Given the description of an element on the screen output the (x, y) to click on. 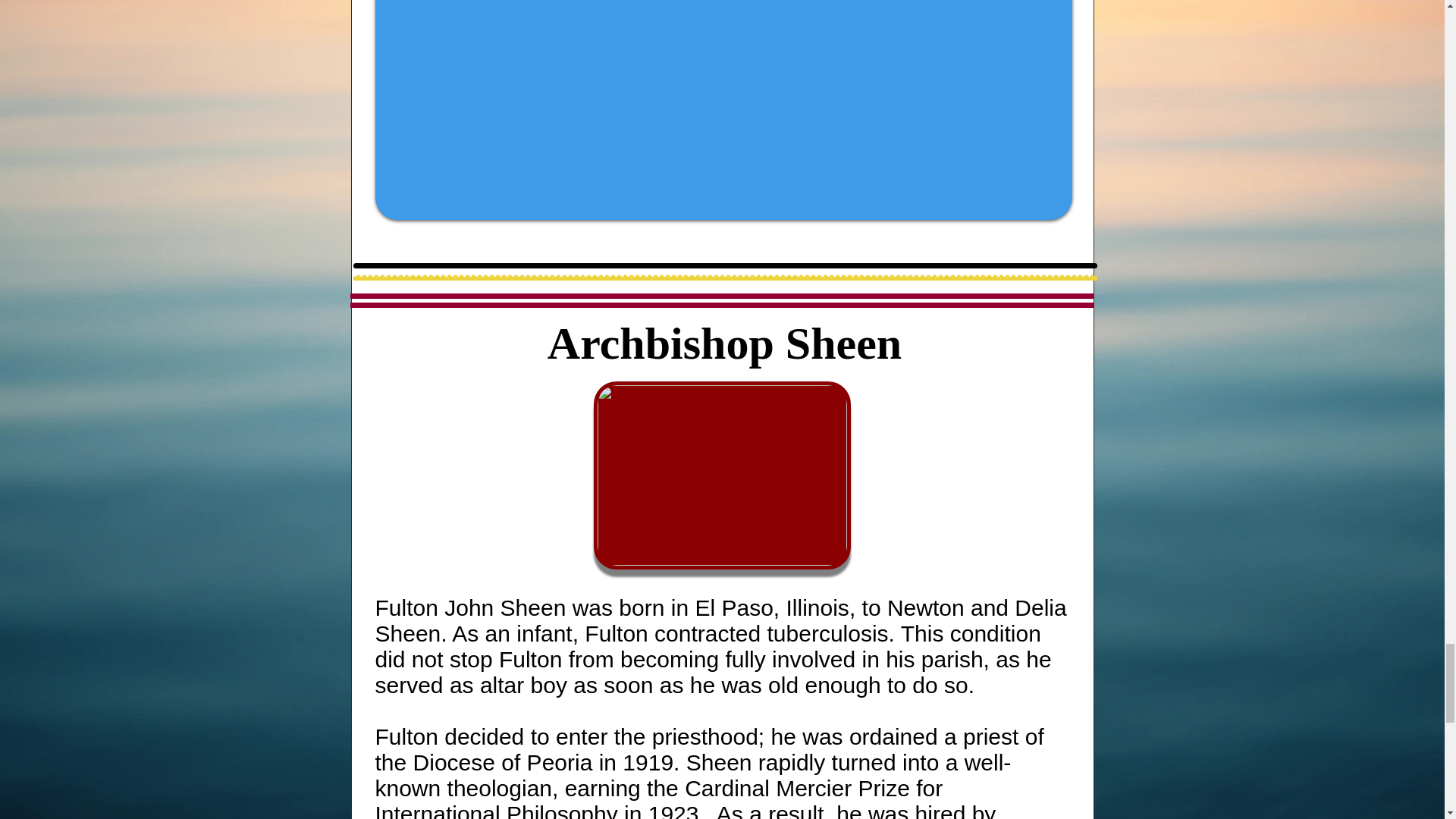
tuberculosis (827, 633)
Cardinal Mercier Prize for International Philosophy (658, 797)
Diocese of Peoria (502, 762)
El Paso, Illinois (771, 607)
